Given the description of an element on the screen output the (x, y) to click on. 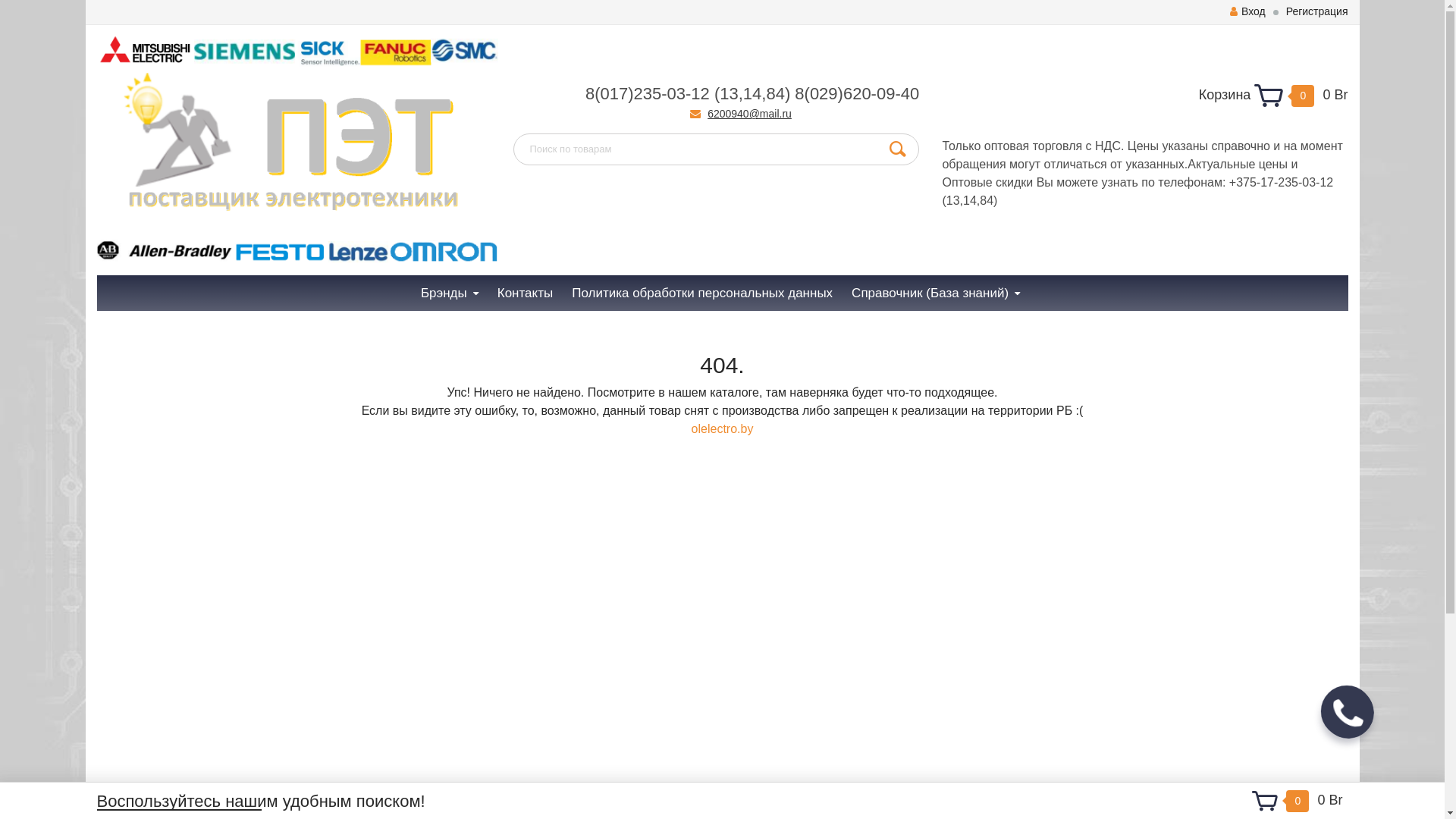
6200940@mail.ru Element type: text (749, 113)
olelectro.by Element type: text (722, 429)
